Given the description of an element on the screen output the (x, y) to click on. 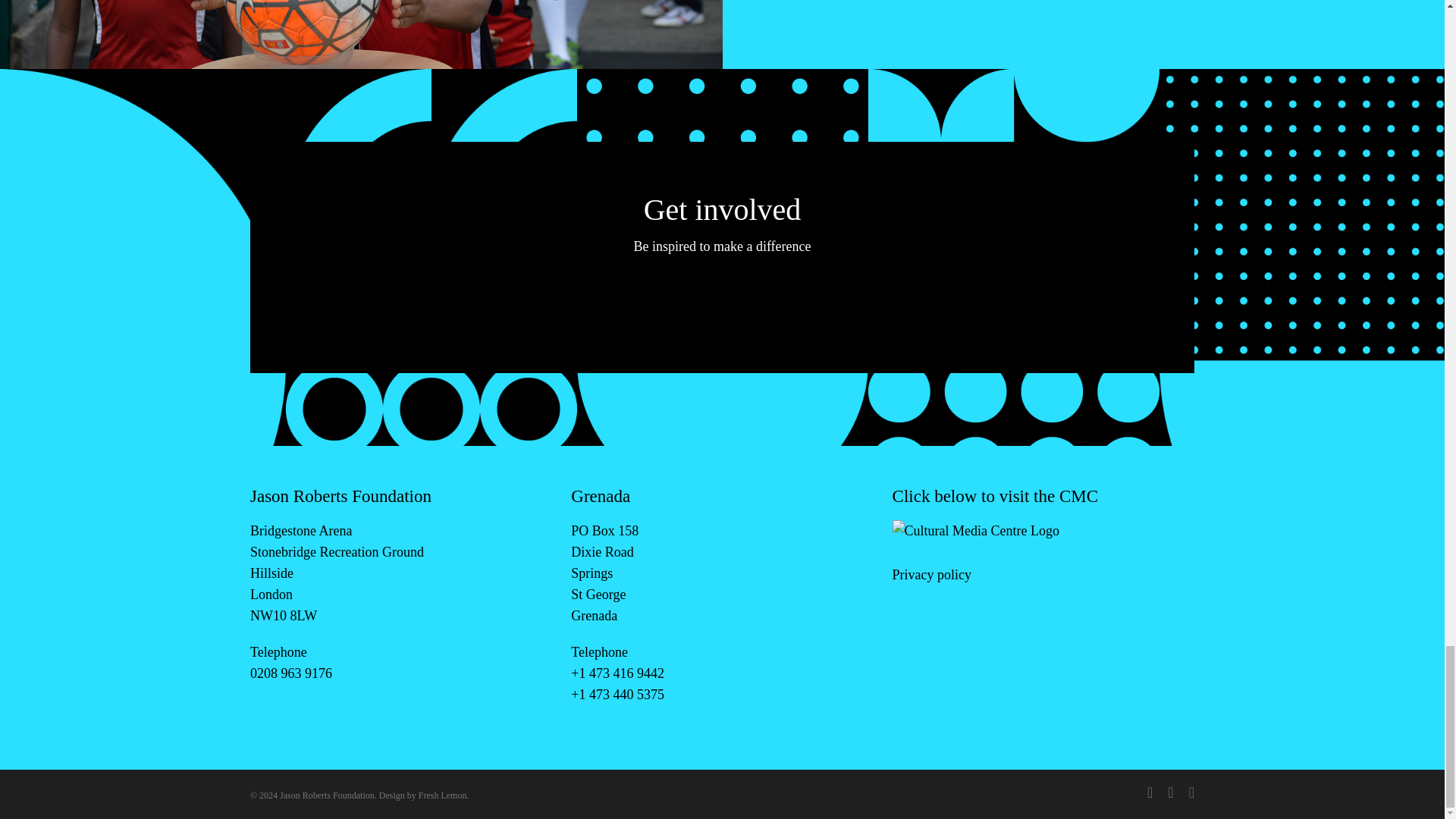
Privacy policy (931, 574)
